Given the description of an element on the screen output the (x, y) to click on. 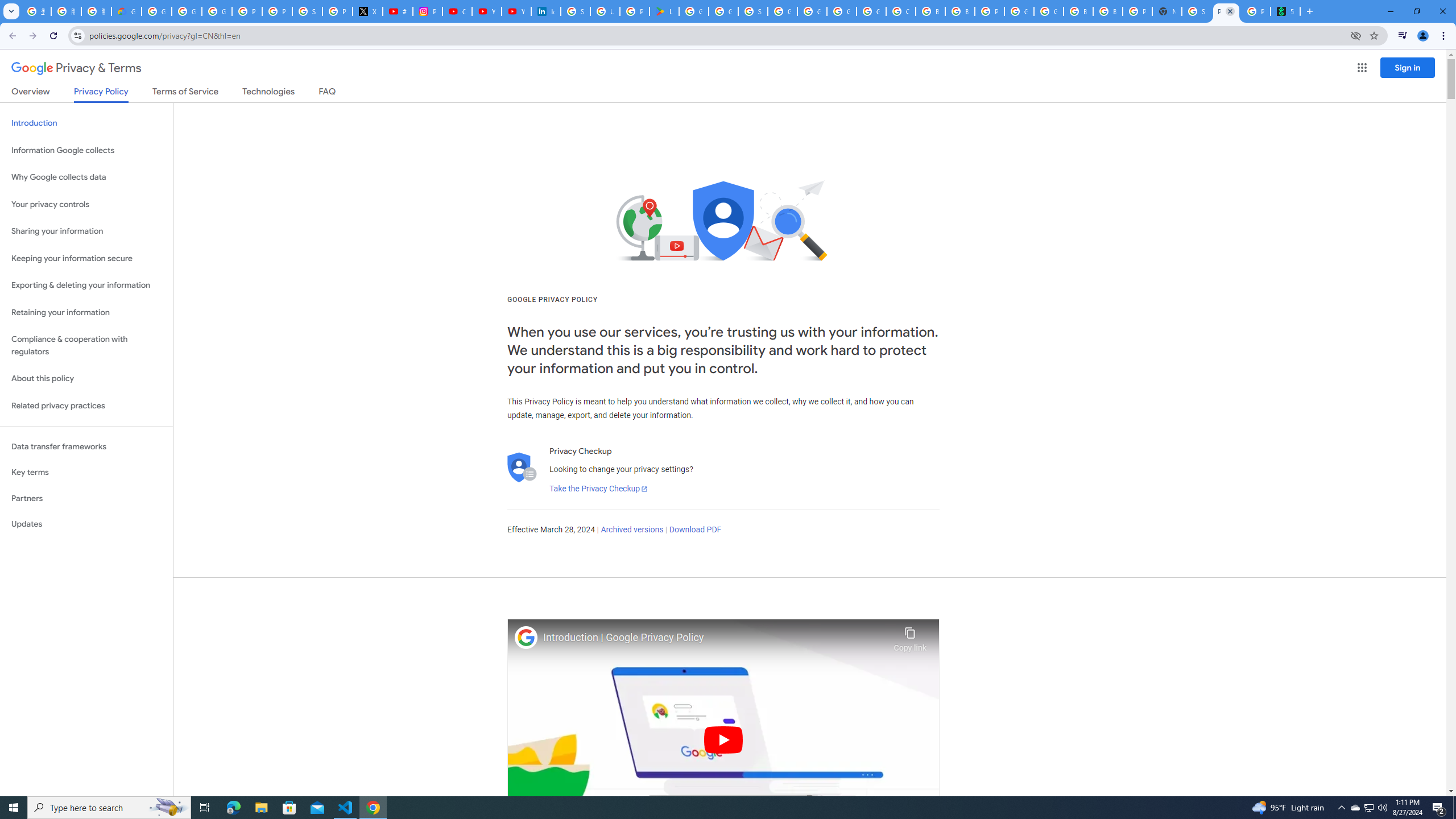
Google Workspace - Specific Terms (723, 11)
Last Shelter: Survival - Apps on Google Play (664, 11)
Your privacy controls (86, 204)
#nbabasketballhighlights - YouTube (397, 11)
Take the Privacy Checkup (597, 488)
Compliance & cooperation with regulators (86, 345)
